Given the description of an element on the screen output the (x, y) to click on. 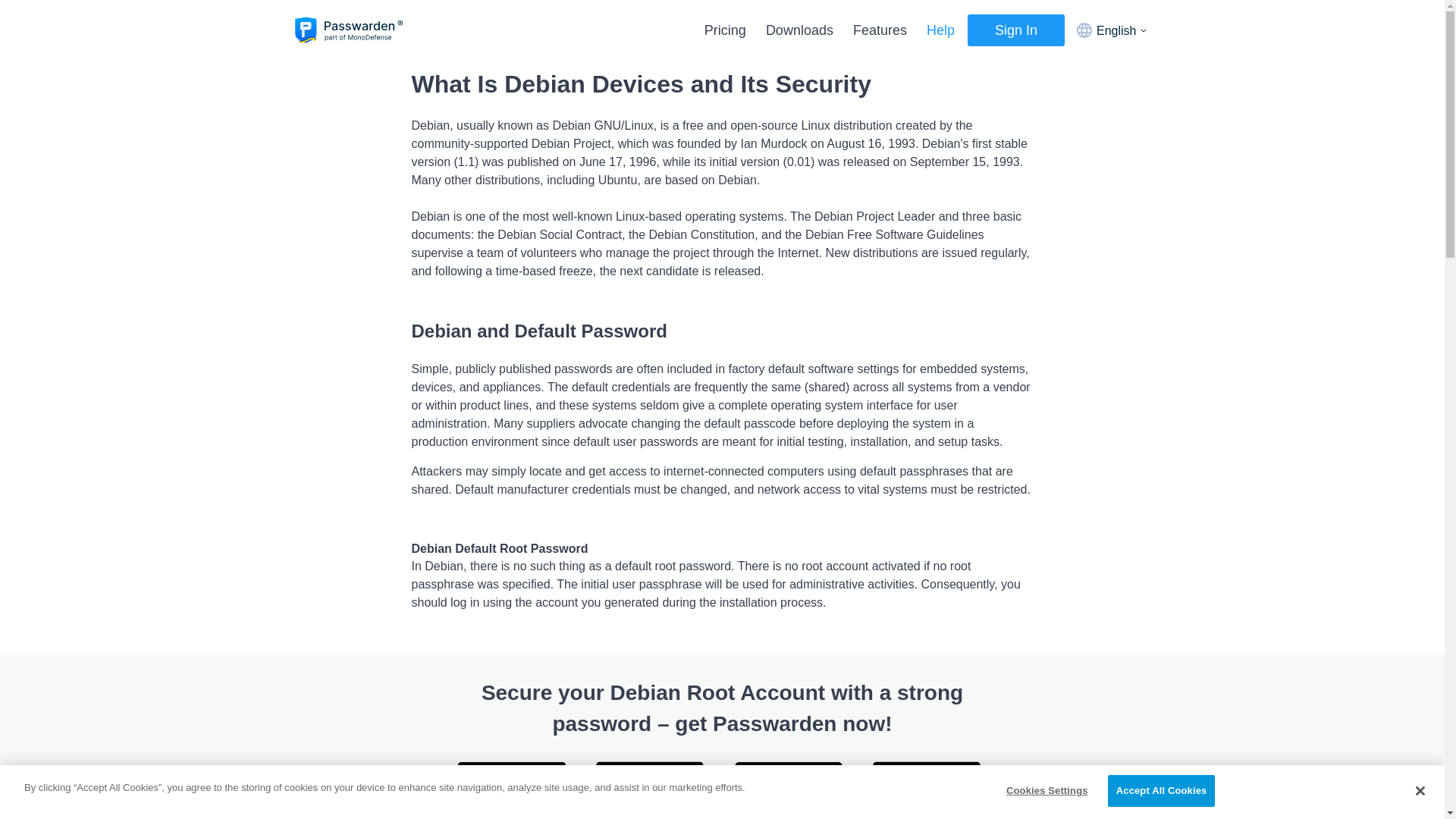
Features (880, 29)
Pricing (724, 29)
Sign In (1016, 29)
Downloads (799, 29)
other platforms (722, 811)
